Given the description of an element on the screen output the (x, y) to click on. 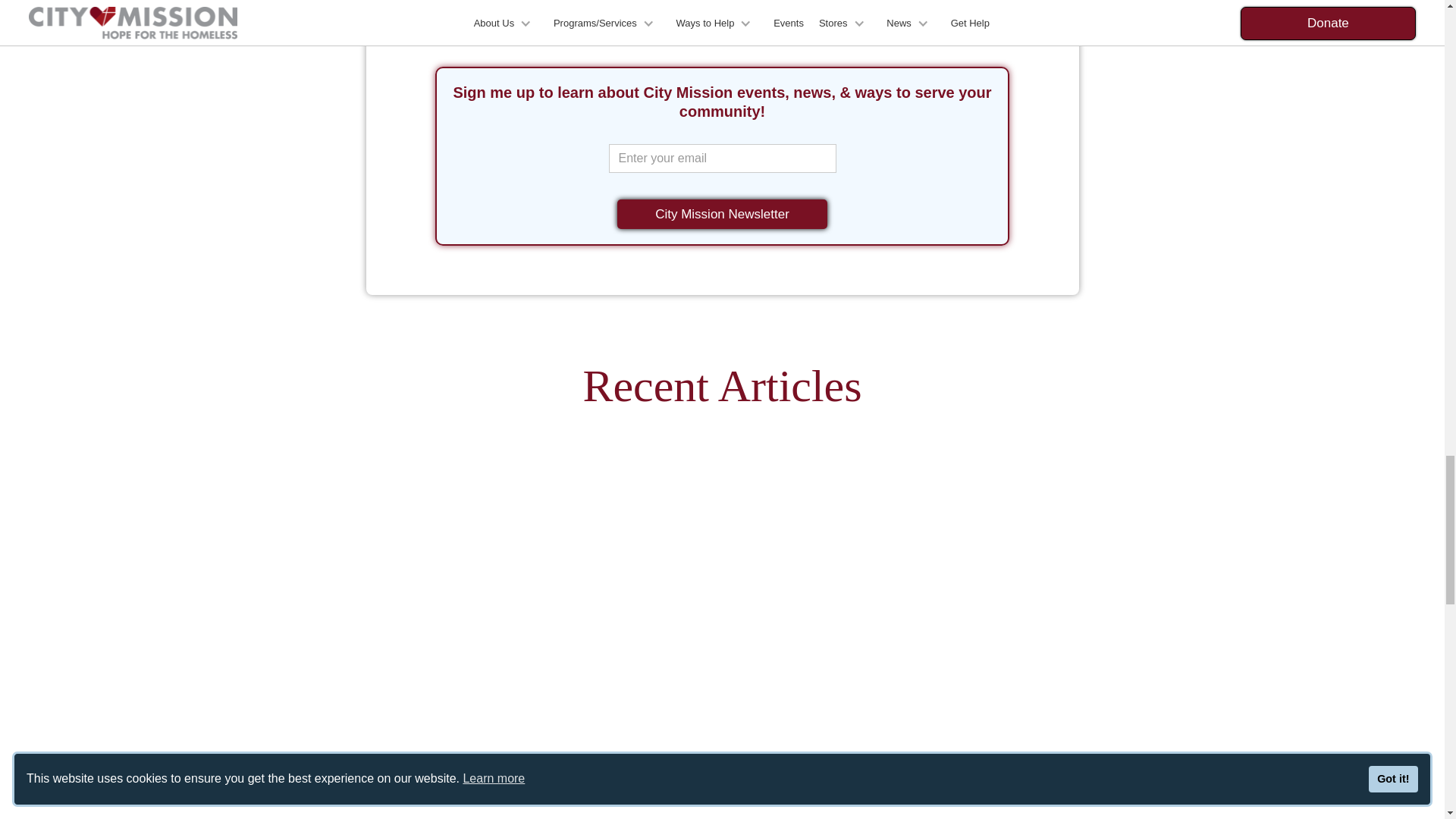
City Mission Newsletter (722, 214)
City Mission Newsletter (722, 214)
